Given the description of an element on the screen output the (x, y) to click on. 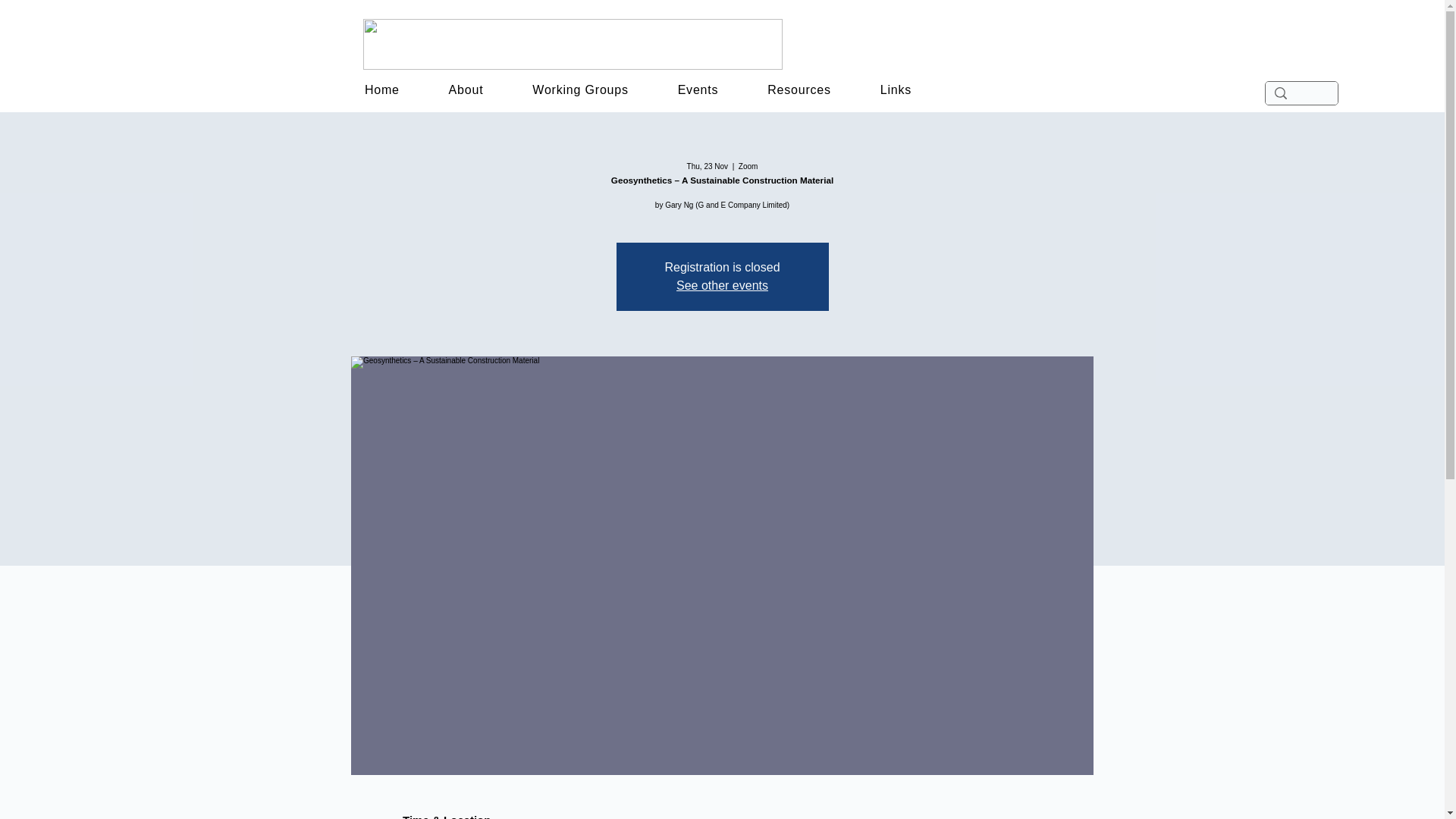
Home (381, 90)
See other events (722, 285)
Logo1.png (572, 43)
